Given the description of an element on the screen output the (x, y) to click on. 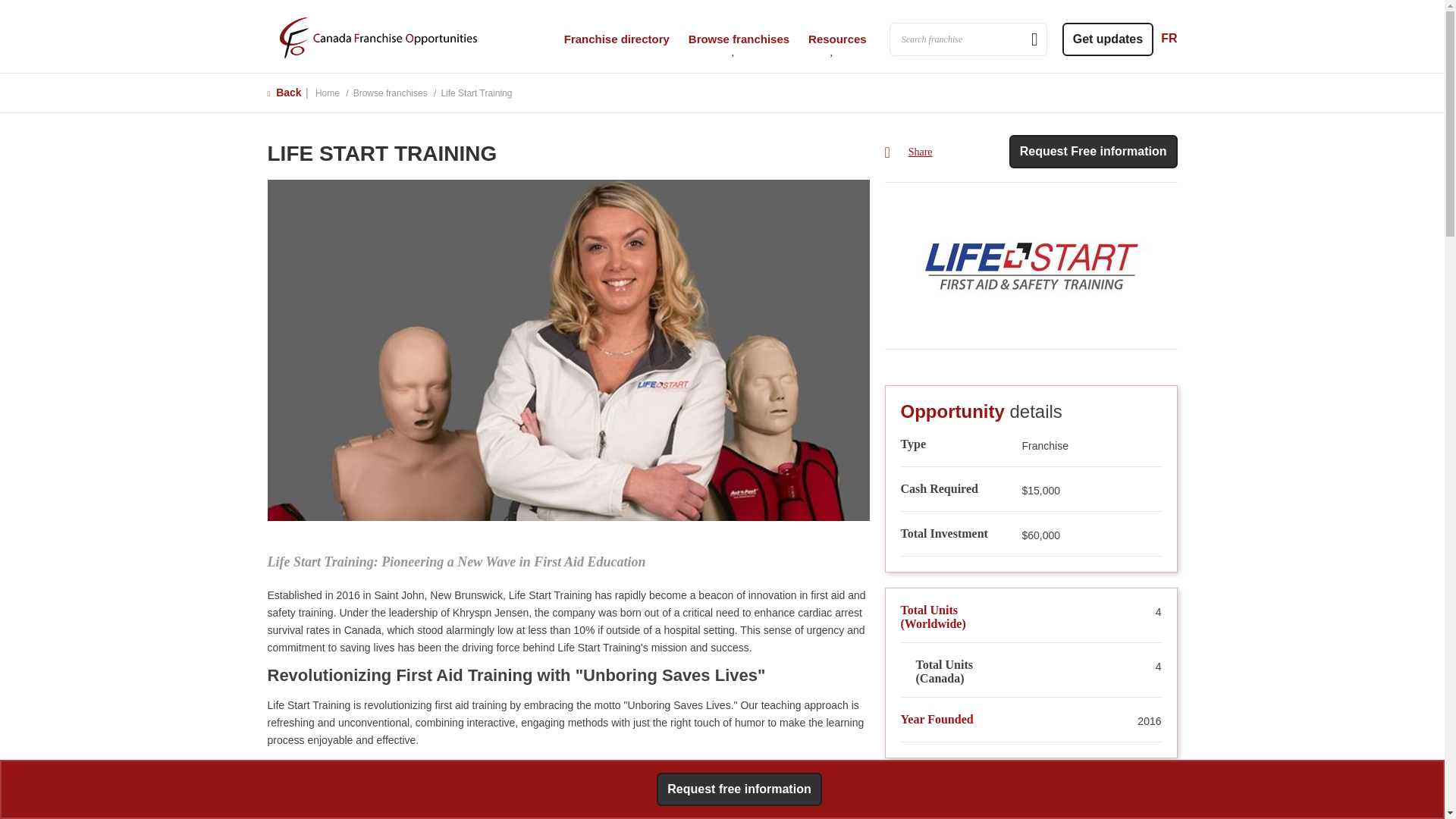
Get updates (1107, 39)
Home (377, 36)
